Given the description of an element on the screen output the (x, y) to click on. 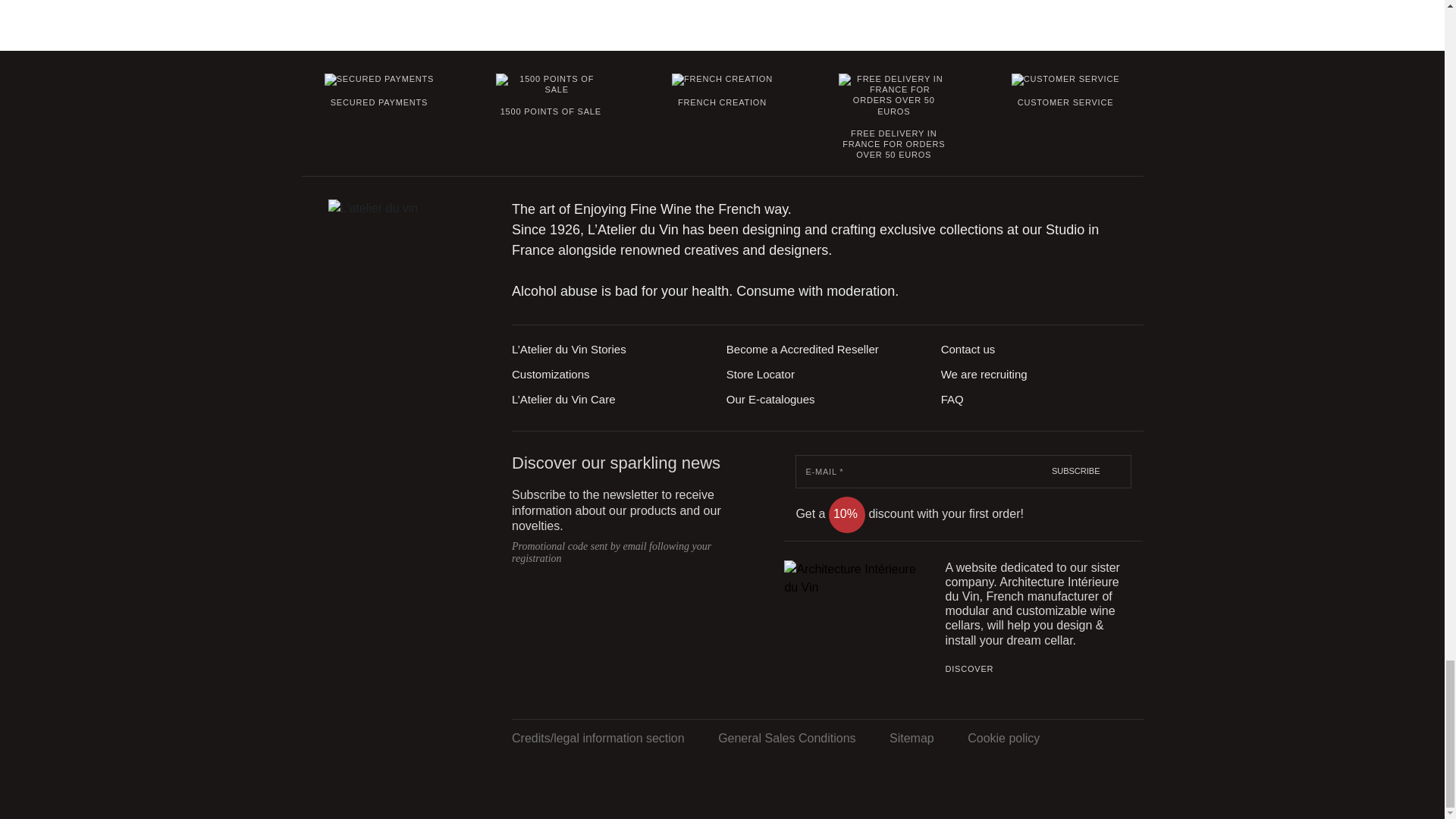
Subscribe (1087, 470)
French creation (722, 79)
Secured payments (378, 79)
1500 points of sale (550, 84)
Free delivery in France for orders over 50 euros (893, 95)
